Given the description of an element on the screen output the (x, y) to click on. 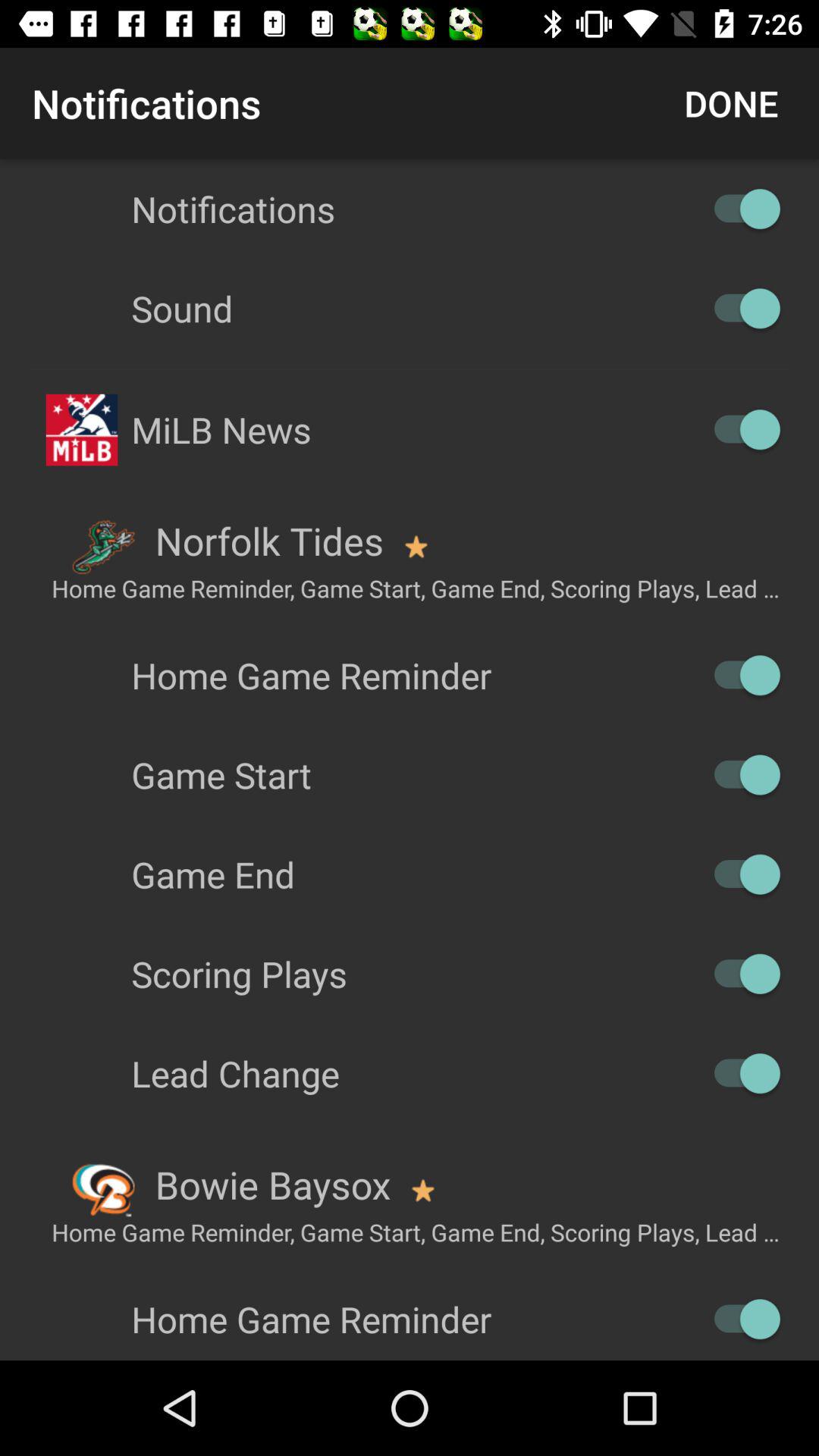
toggle scoring plays (739, 973)
